Given the description of an element on the screen output the (x, y) to click on. 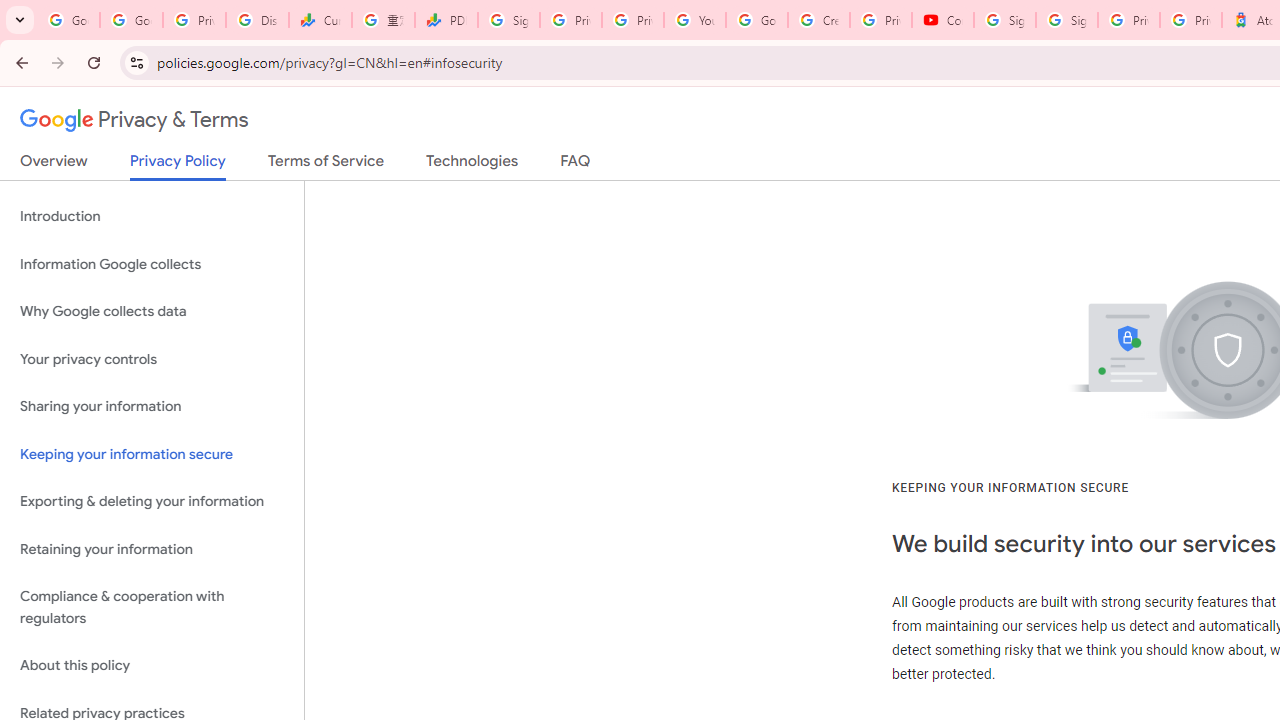
Compliance & cooperation with regulators (152, 607)
Google Account Help (756, 20)
YouTube (694, 20)
Sharing your information (152, 407)
Privacy Checkup (632, 20)
Retaining your information (152, 548)
